Given the description of an element on the screen output the (x, y) to click on. 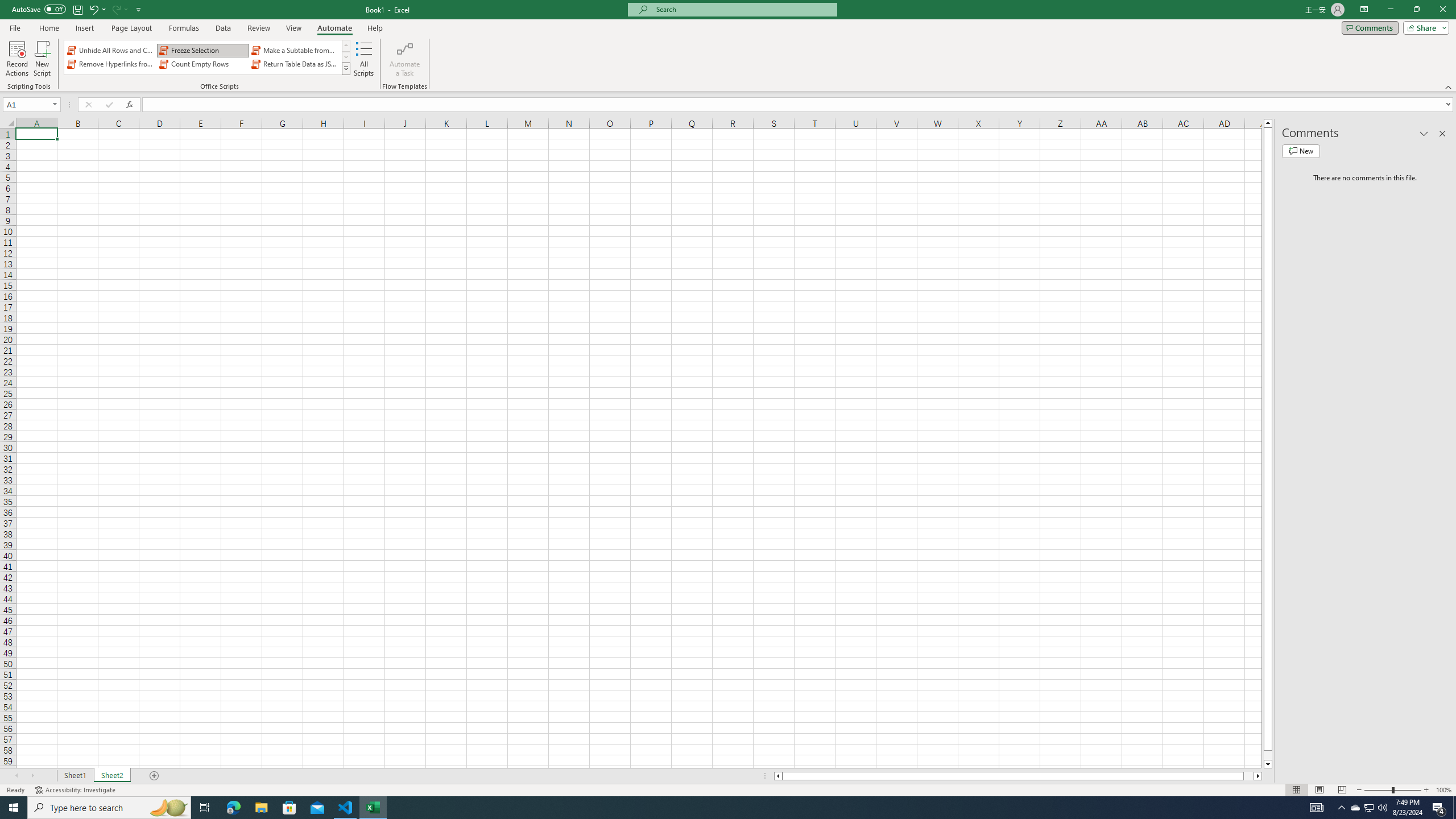
Record Actions (17, 58)
Row up (346, 45)
Class: NetUIImage (345, 68)
Row Down (346, 56)
AutomationID: OfficeScriptsGallery (207, 57)
